Given the description of an element on the screen output the (x, y) to click on. 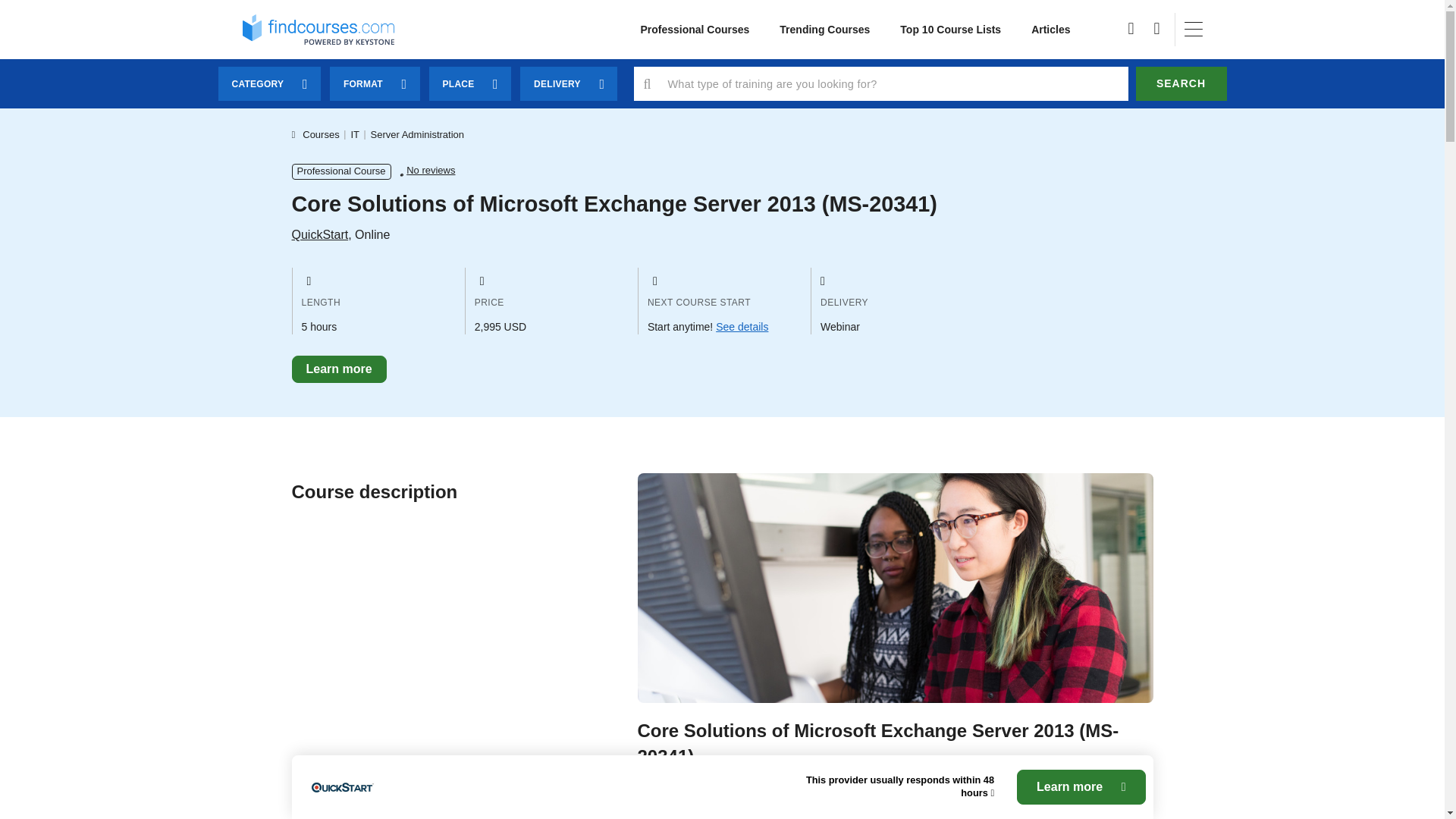
Articles (1050, 29)
findcourses.com homepage (318, 28)
Trending Courses (824, 29)
Search (1181, 83)
Top 10 Course Lists (950, 29)
Search (1181, 83)
All course categories (694, 29)
